Given the description of an element on the screen output the (x, y) to click on. 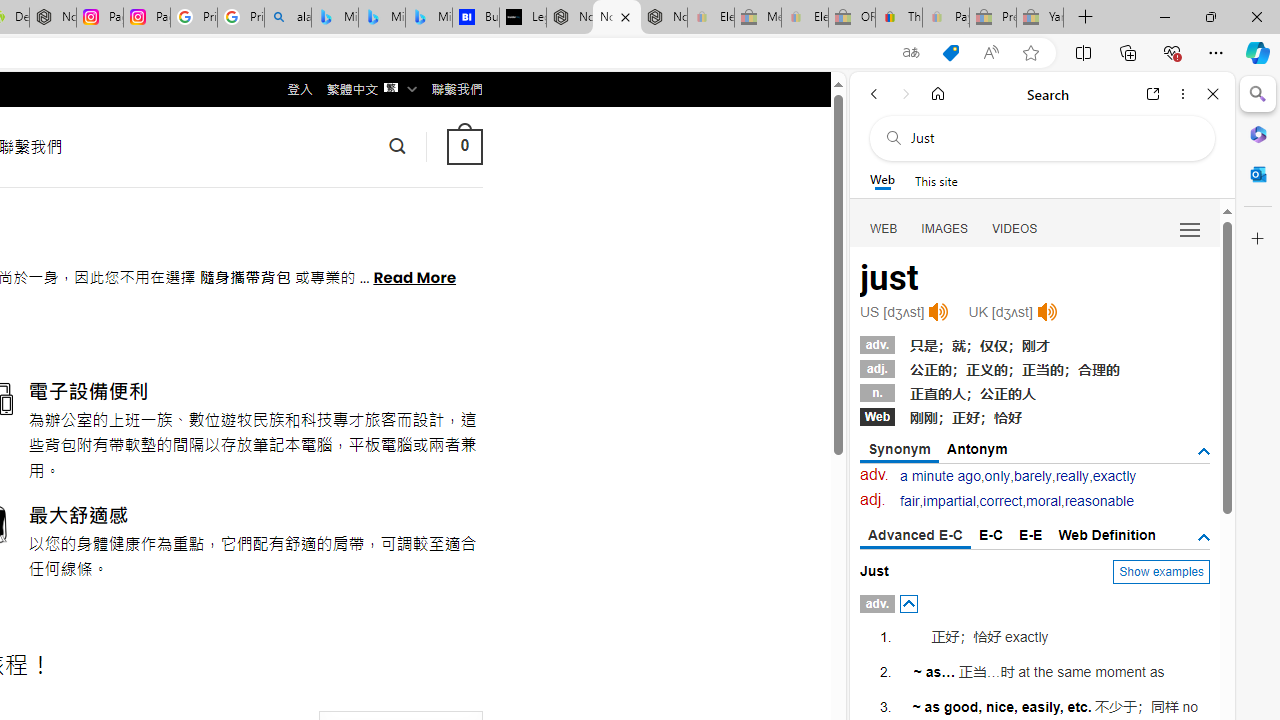
AutomationID: tgsb (1203, 451)
AutomationID: posbtn_0 (908, 603)
 0  (464, 146)
E-E (1030, 534)
